Given the description of an element on the screen output the (x, y) to click on. 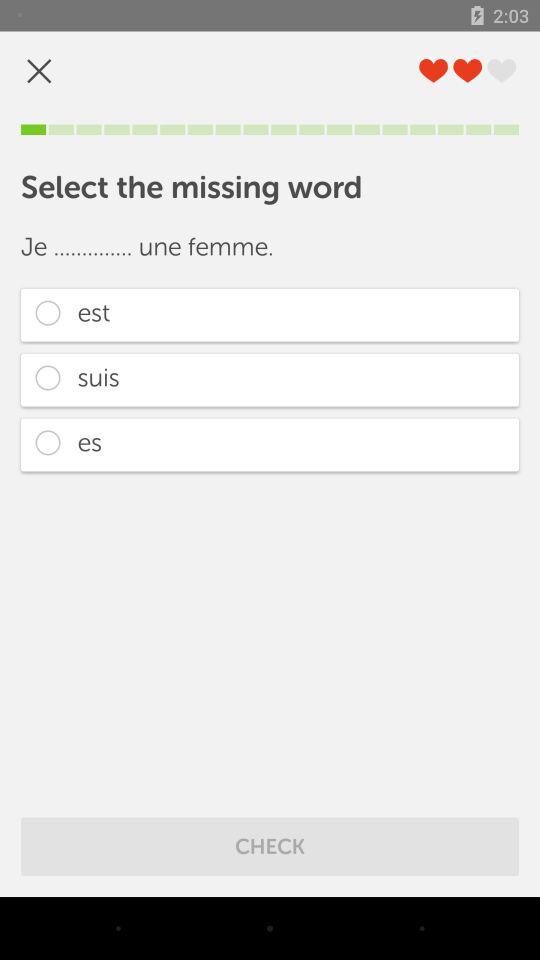
turn on check (270, 846)
